Given the description of an element on the screen output the (x, y) to click on. 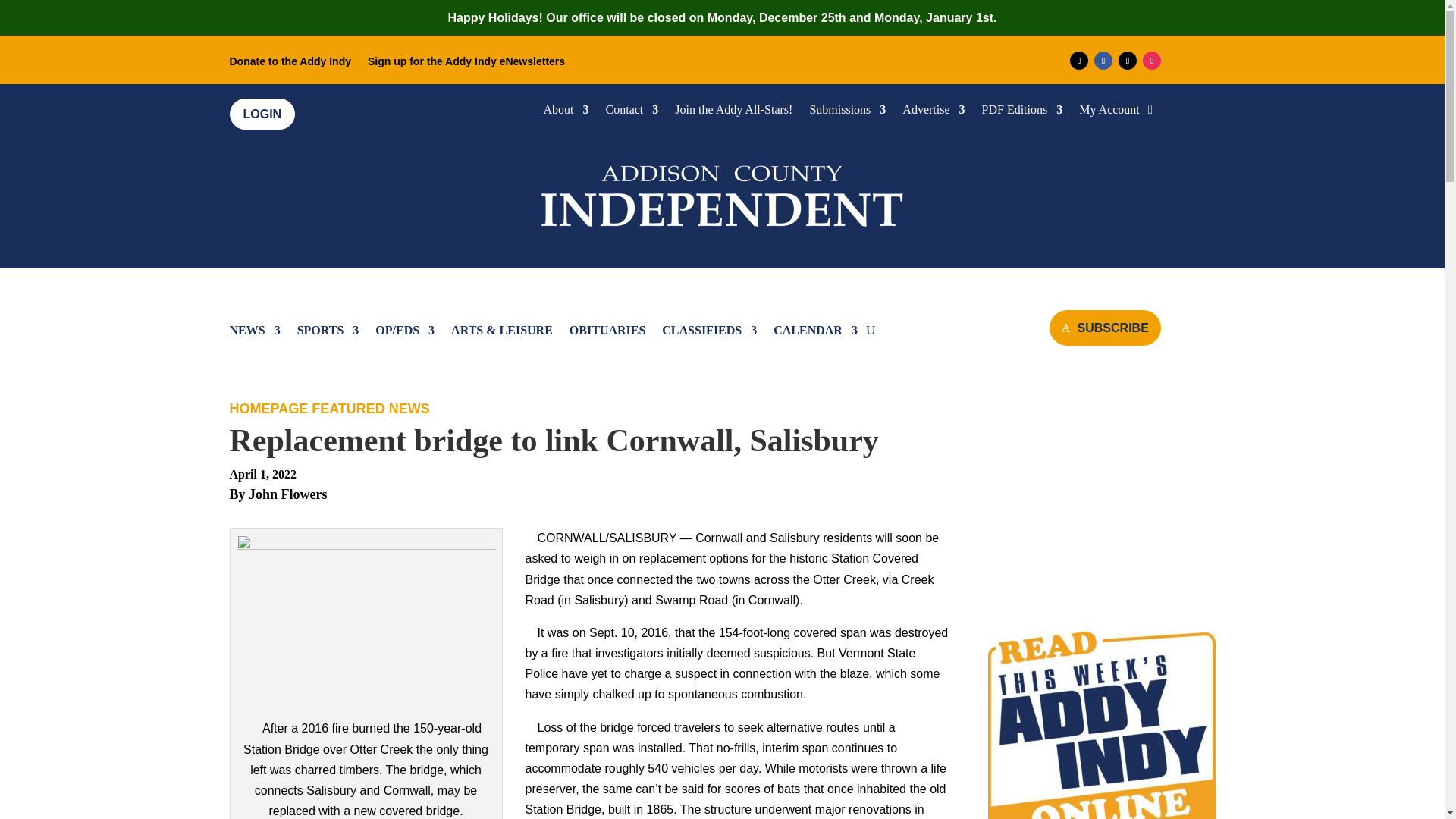
Follow on Instagram (1151, 60)
Sign up for the Addy Indy eNewsletters (466, 64)
My Account (1109, 112)
Advertise (932, 112)
LOGIN (261, 113)
Follow on Mail (1078, 60)
addison-logo (721, 192)
About (566, 112)
PDF Editions (1021, 112)
Submissions (847, 112)
3rd party ad content (1100, 496)
Join the Addy All-Stars! (733, 112)
Follow on Facebook (1103, 60)
Follow on X (1127, 60)
Contact (632, 112)
